Given the description of an element on the screen output the (x, y) to click on. 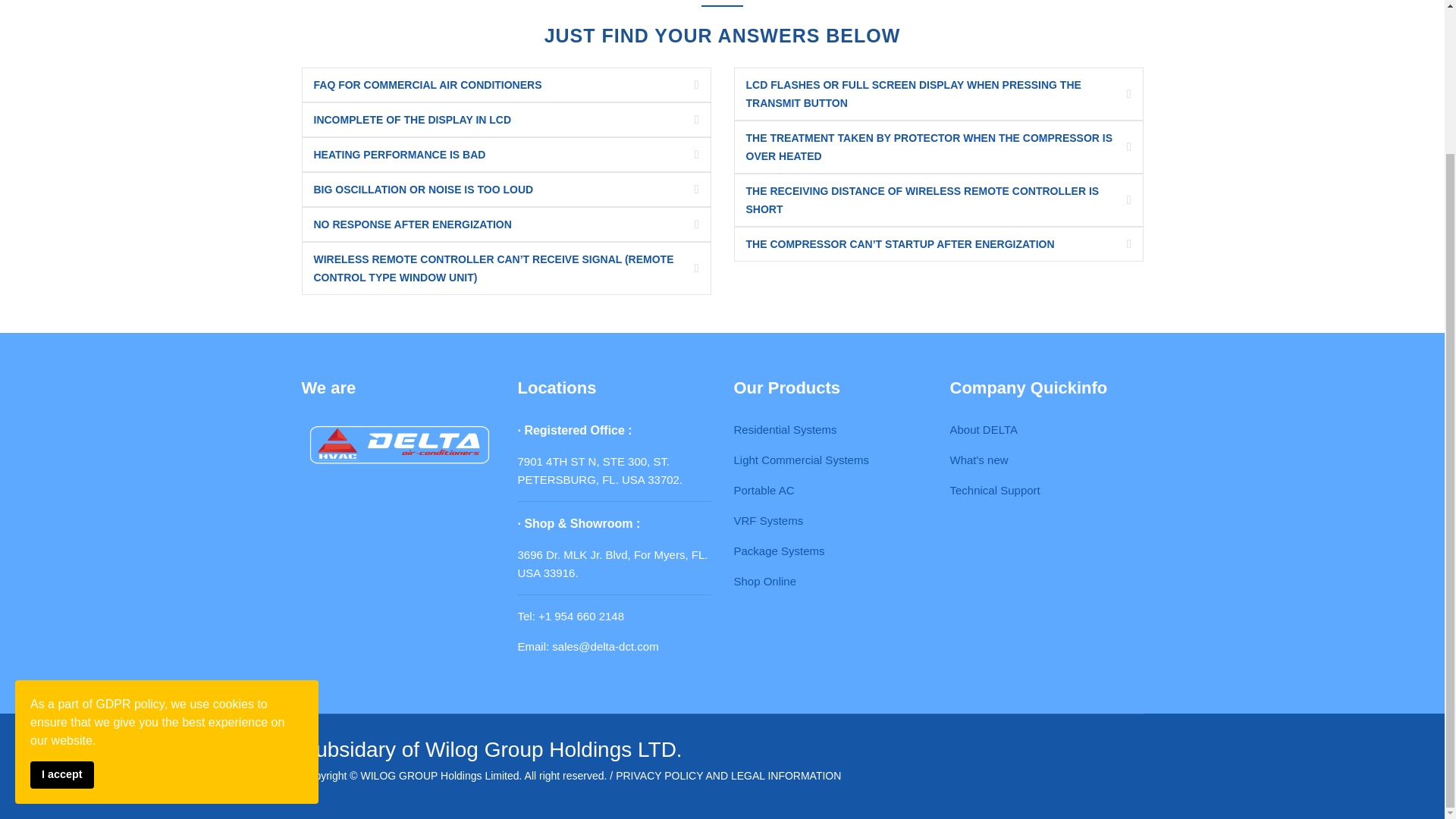
Light Commercial Systems (801, 459)
Portable AC (763, 490)
Package Systems (779, 550)
Technical Support (994, 490)
VRF Systems (768, 520)
Residential Systems (785, 429)
Shop Online (764, 581)
What's new (978, 459)
About DELTA (983, 429)
